Given the description of an element on the screen output the (x, y) to click on. 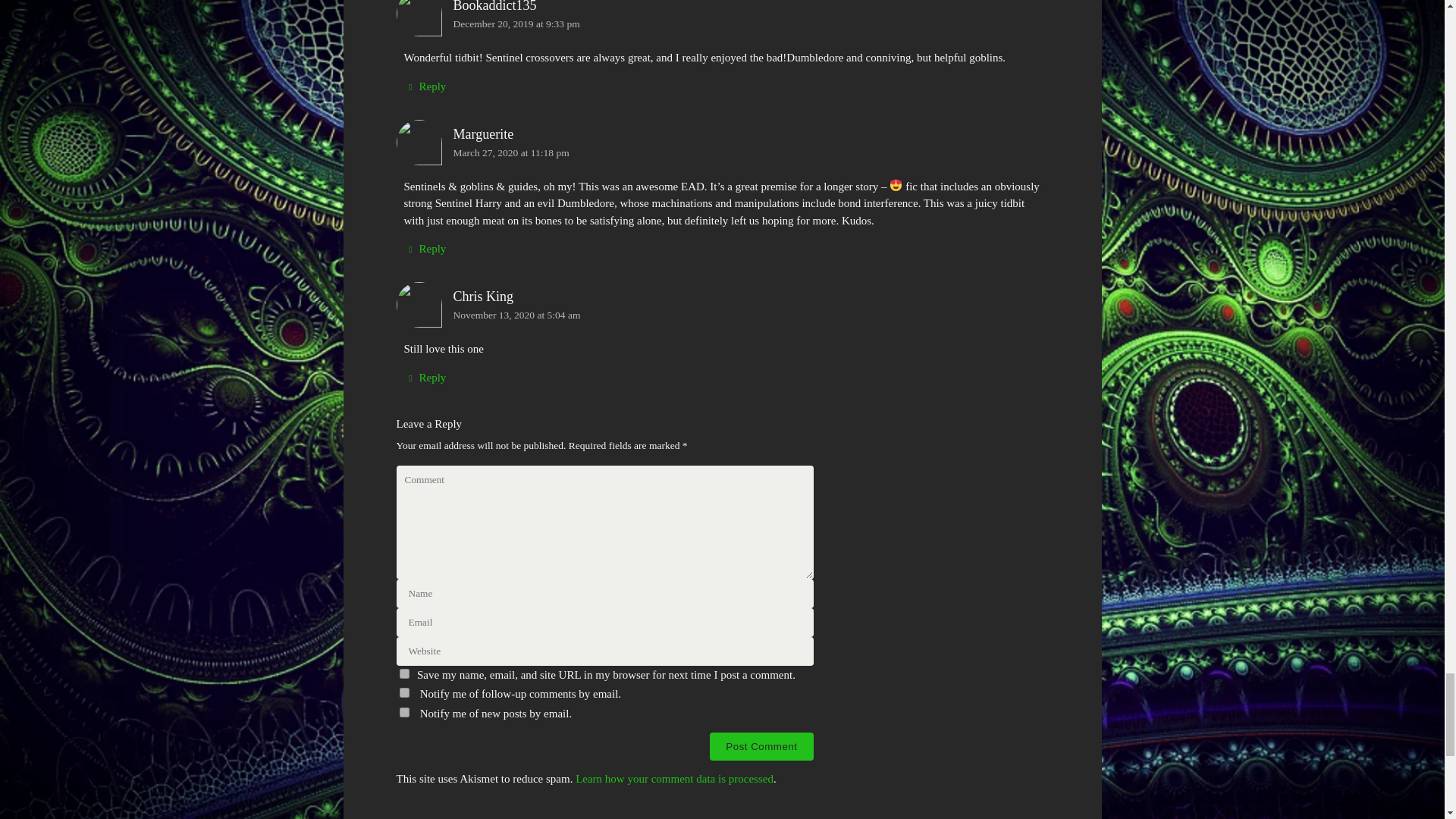
subscribe (403, 712)
yes (403, 673)
Post Comment (761, 746)
subscribe (403, 692)
